Given the description of an element on the screen output the (x, y) to click on. 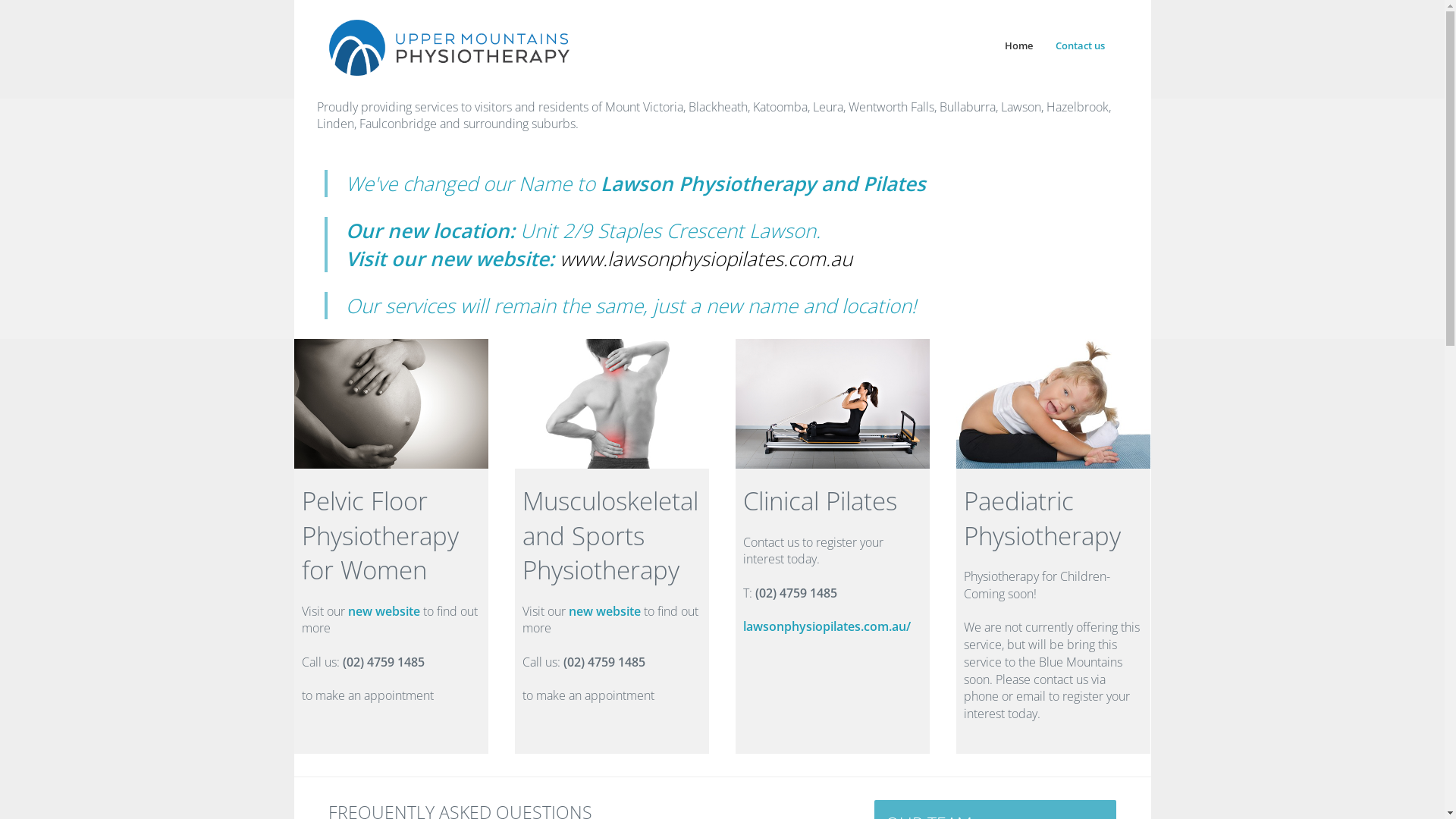
Menu Element type: text (1443, 7)
www.lawsonphysiopilates.com.au Element type: text (705, 258)
new website t Element type: text (607, 610)
new website t Element type: text (387, 610)
Home Element type: text (1018, 45)
lawsonphysiopilates.com.au/ Element type: text (826, 626)
Contact us Element type: text (1080, 45)
